Given the description of an element on the screen output the (x, y) to click on. 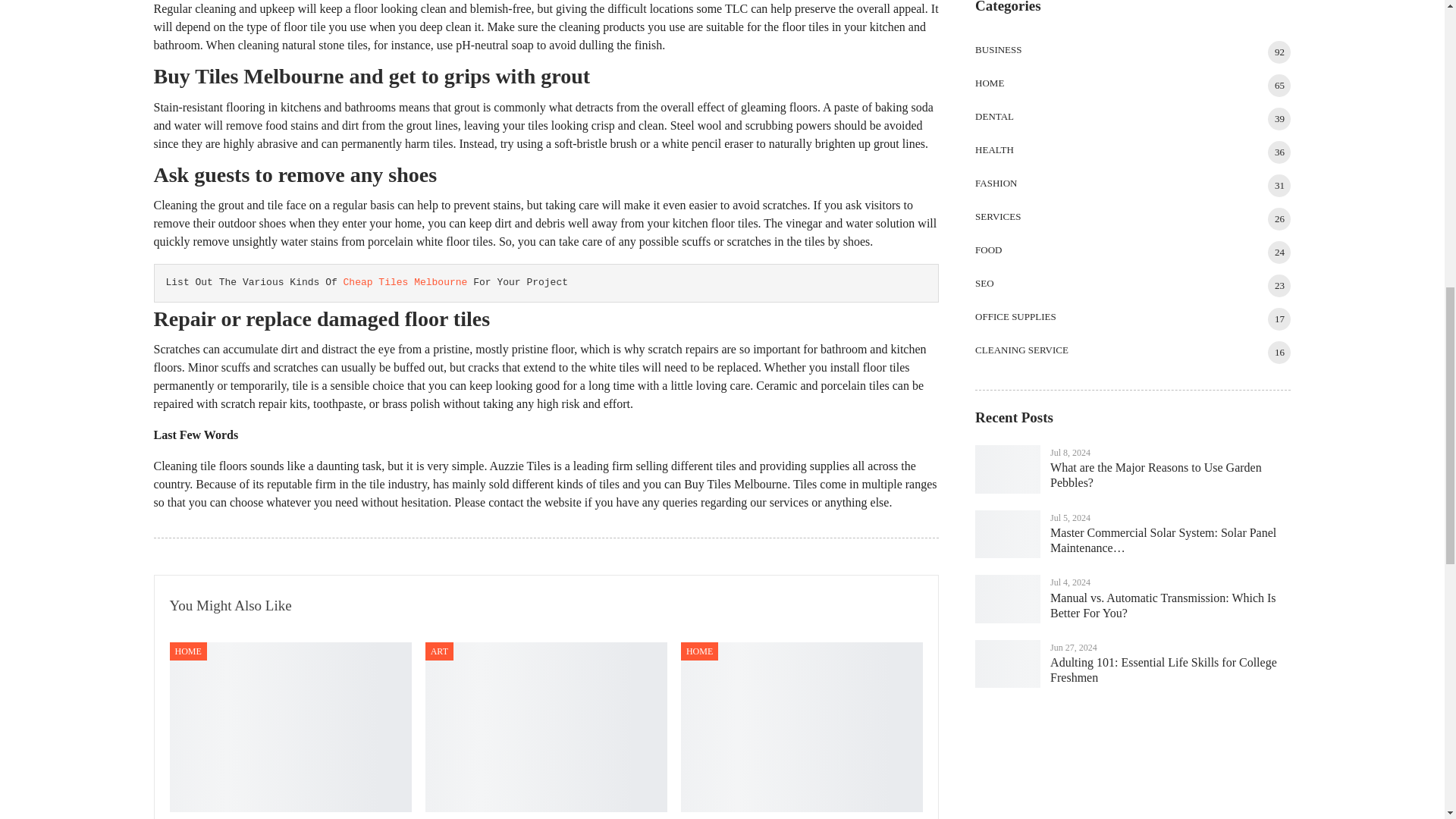
HOME (699, 651)
ART (438, 651)
HOME (188, 651)
Cheap Tiles Melbourne (405, 282)
